Given the description of an element on the screen output the (x, y) to click on. 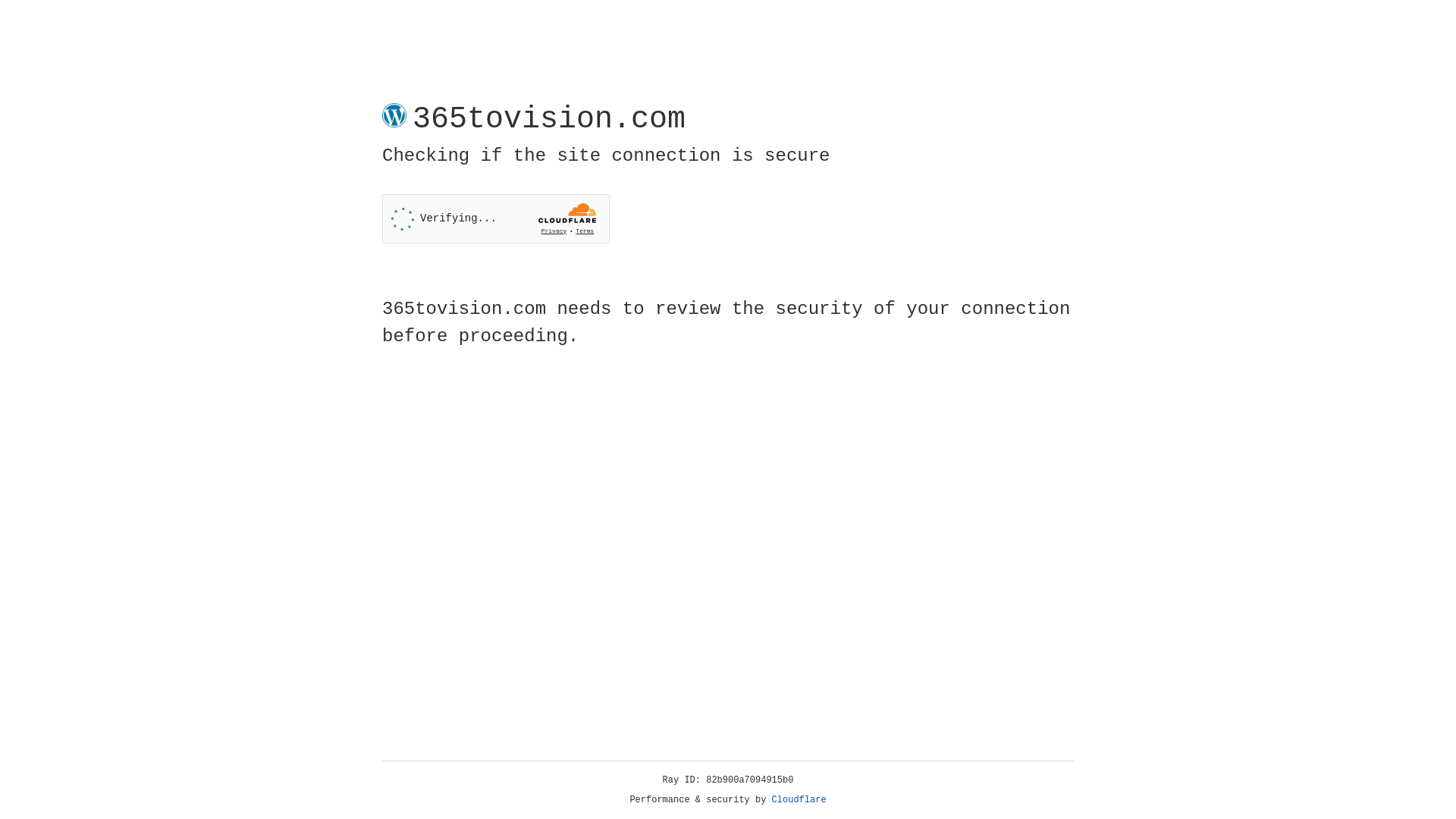
Cloudflare Element type: text (798, 799)
Widget containing a Cloudflare security challenge Element type: hover (495, 218)
